Given the description of an element on the screen output the (x, y) to click on. 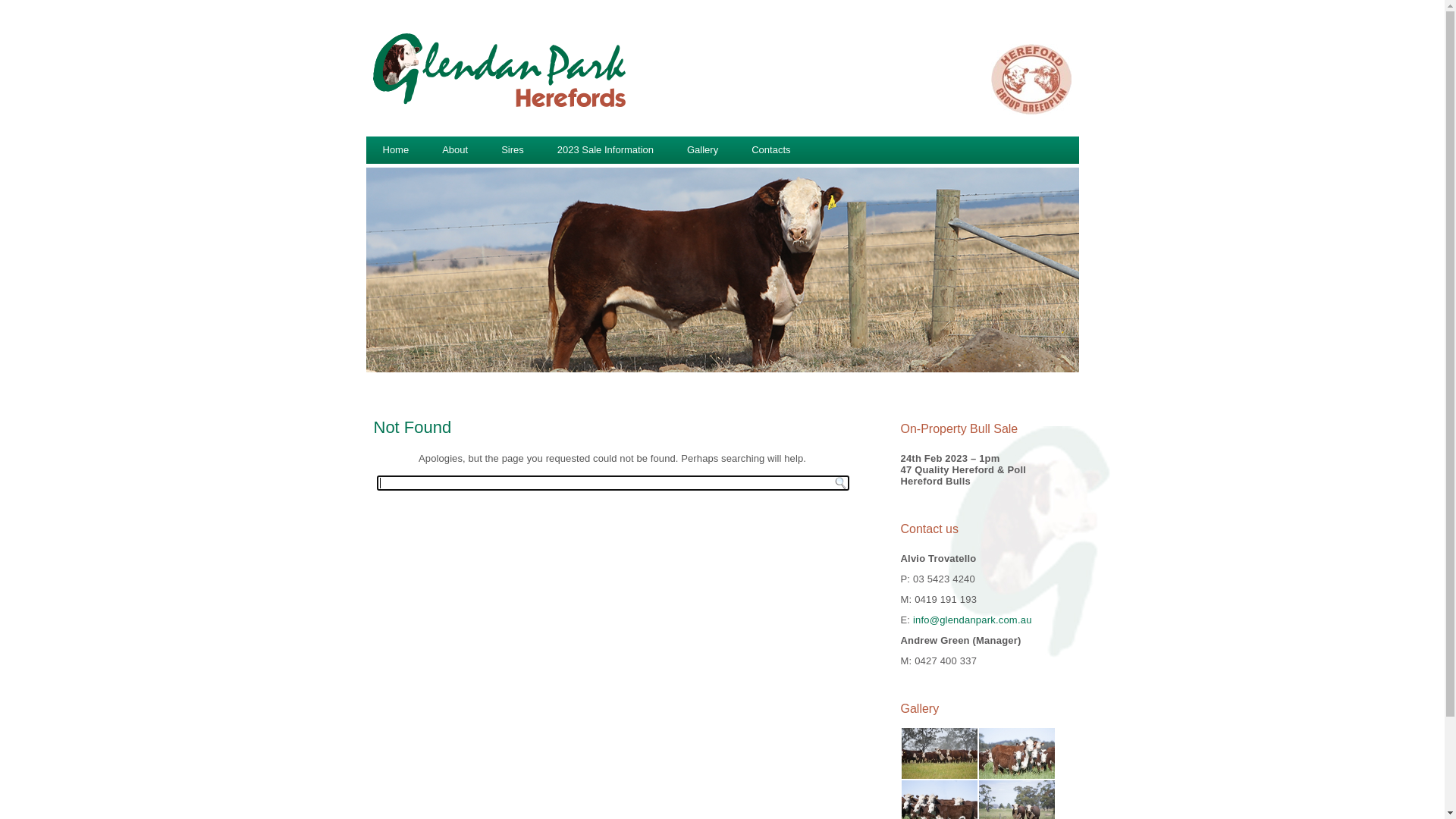
About Element type: text (454, 149)
Gallery Element type: text (702, 149)
2023 Sale Information Element type: text (605, 149)
dsc_5481-resize Element type: hover (1016, 753)
Contacts Element type: text (770, 149)
Sires Element type: text (512, 149)
info@glendanpark.com.au Element type: text (972, 619)
Home Element type: text (395, 149)
dsc_3362-resize Element type: hover (939, 753)
